Given the description of an element on the screen output the (x, y) to click on. 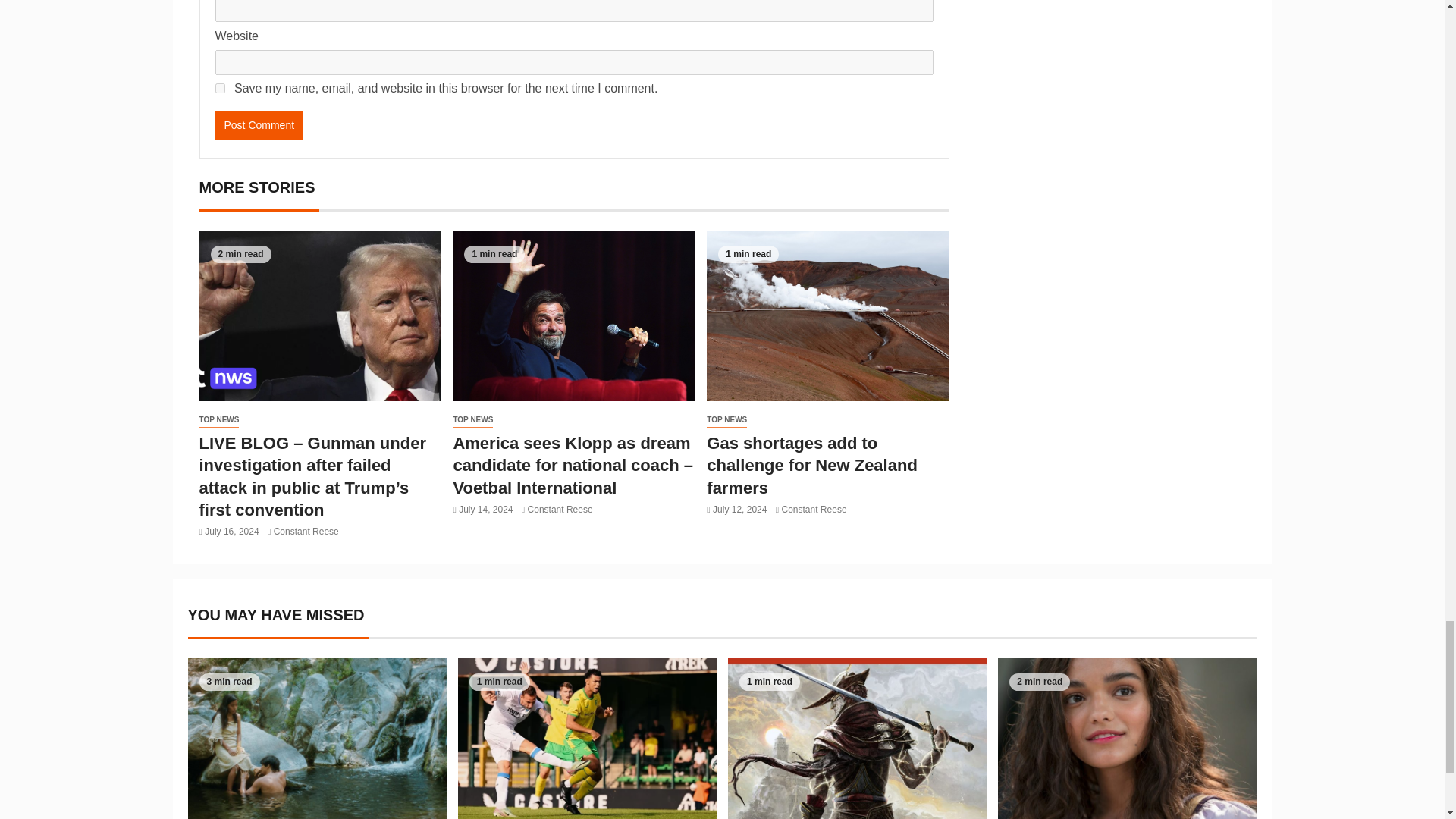
Post Comment (259, 124)
yes (220, 88)
Post Comment (259, 124)
